Given the description of an element on the screen output the (x, y) to click on. 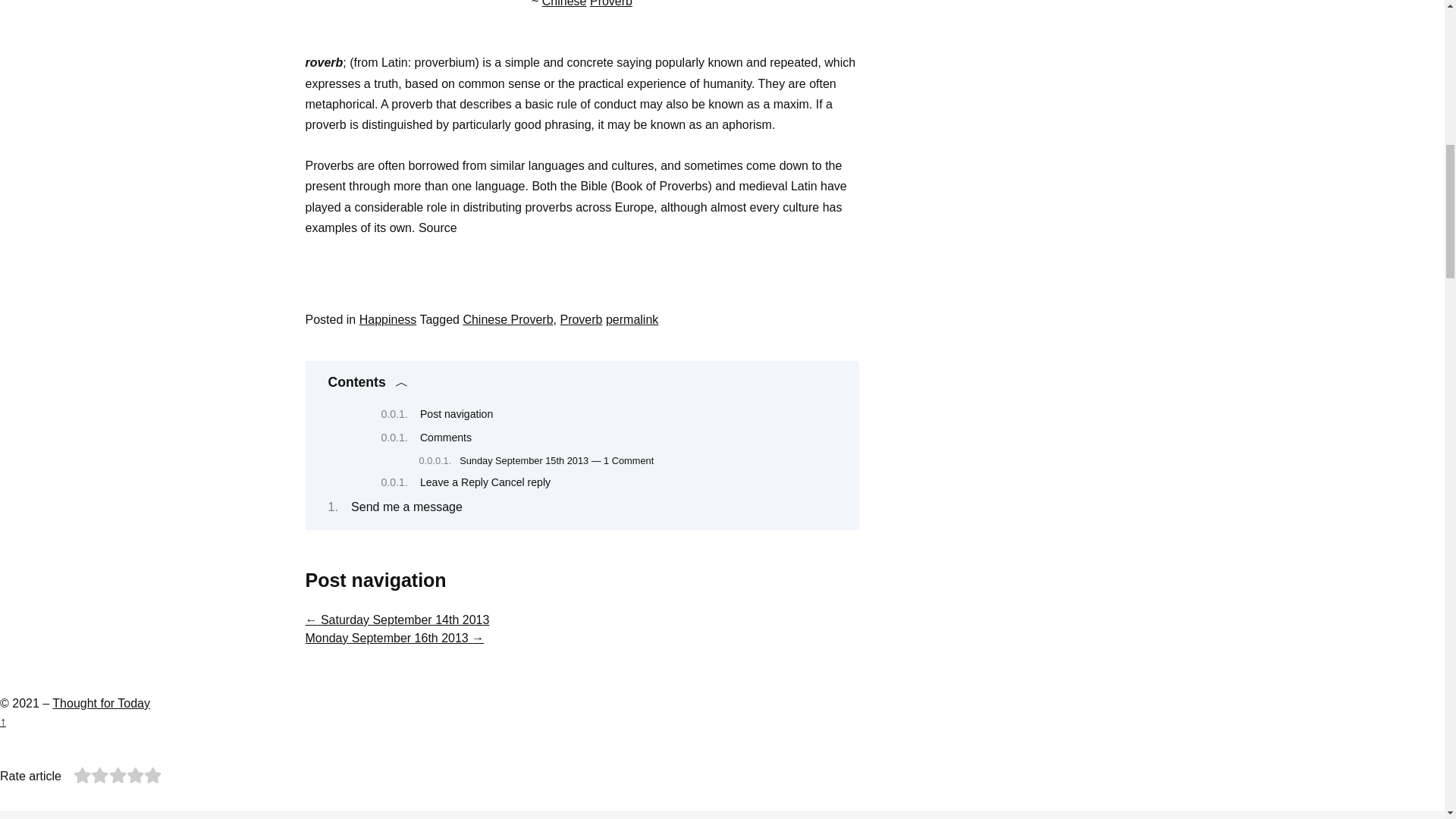
Happiness (387, 318)
More Thought Provoking Proverbs From Around the World. (610, 3)
Proverb (580, 318)
Proverb (610, 3)
Chinese (563, 3)
Thought for Today (100, 703)
Chinese Proverb (508, 318)
Permalink to Sunday September 15th 2013 (631, 318)
permalink (631, 318)
More Chinese Proverbs and Sayings (563, 3)
